Given the description of an element on the screen output the (x, y) to click on. 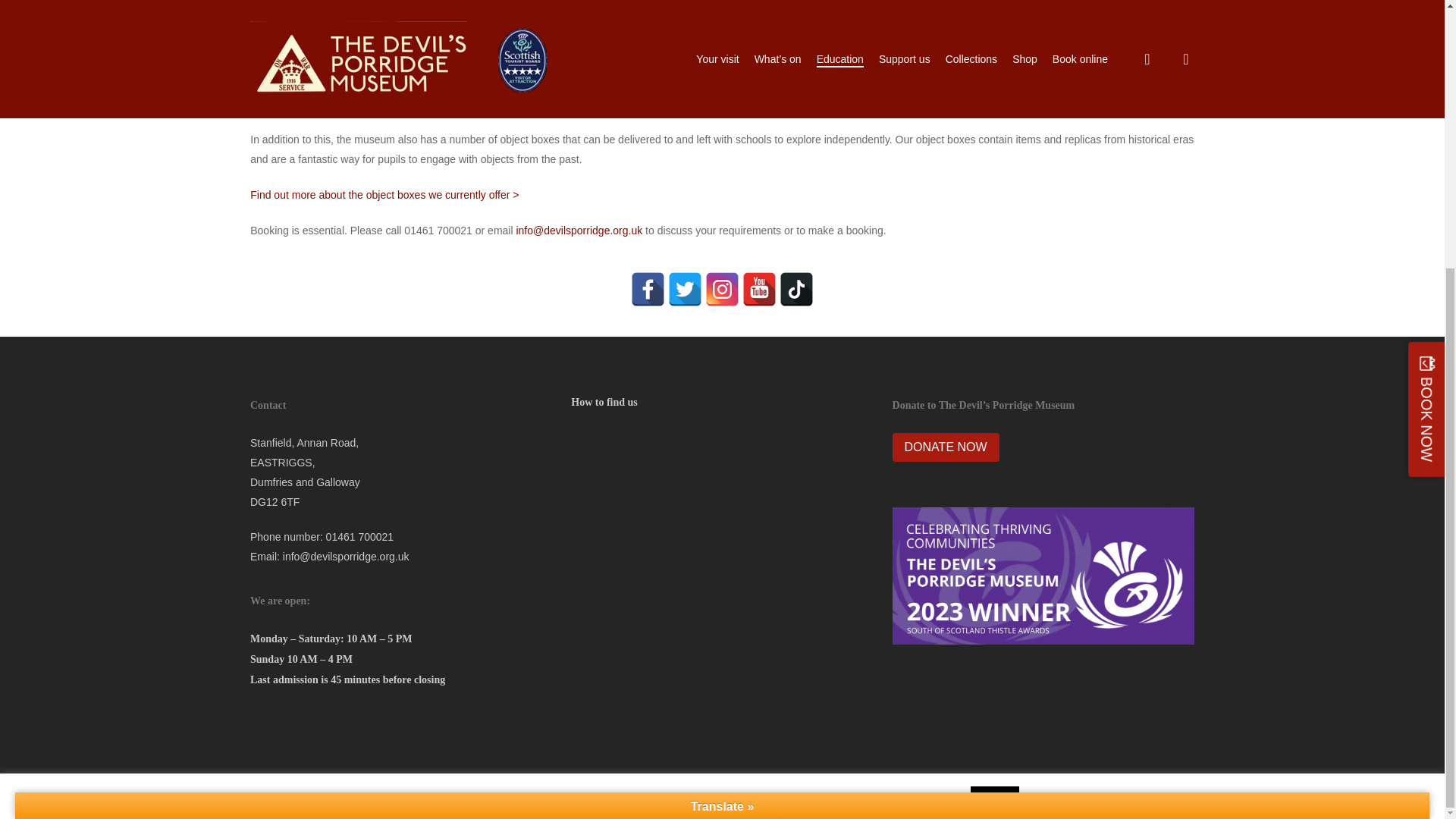
Facebook (647, 288)
TikTok (795, 288)
Instagram (721, 288)
YouTube (759, 288)
Twitter (684, 288)
